Given the description of an element on the screen output the (x, y) to click on. 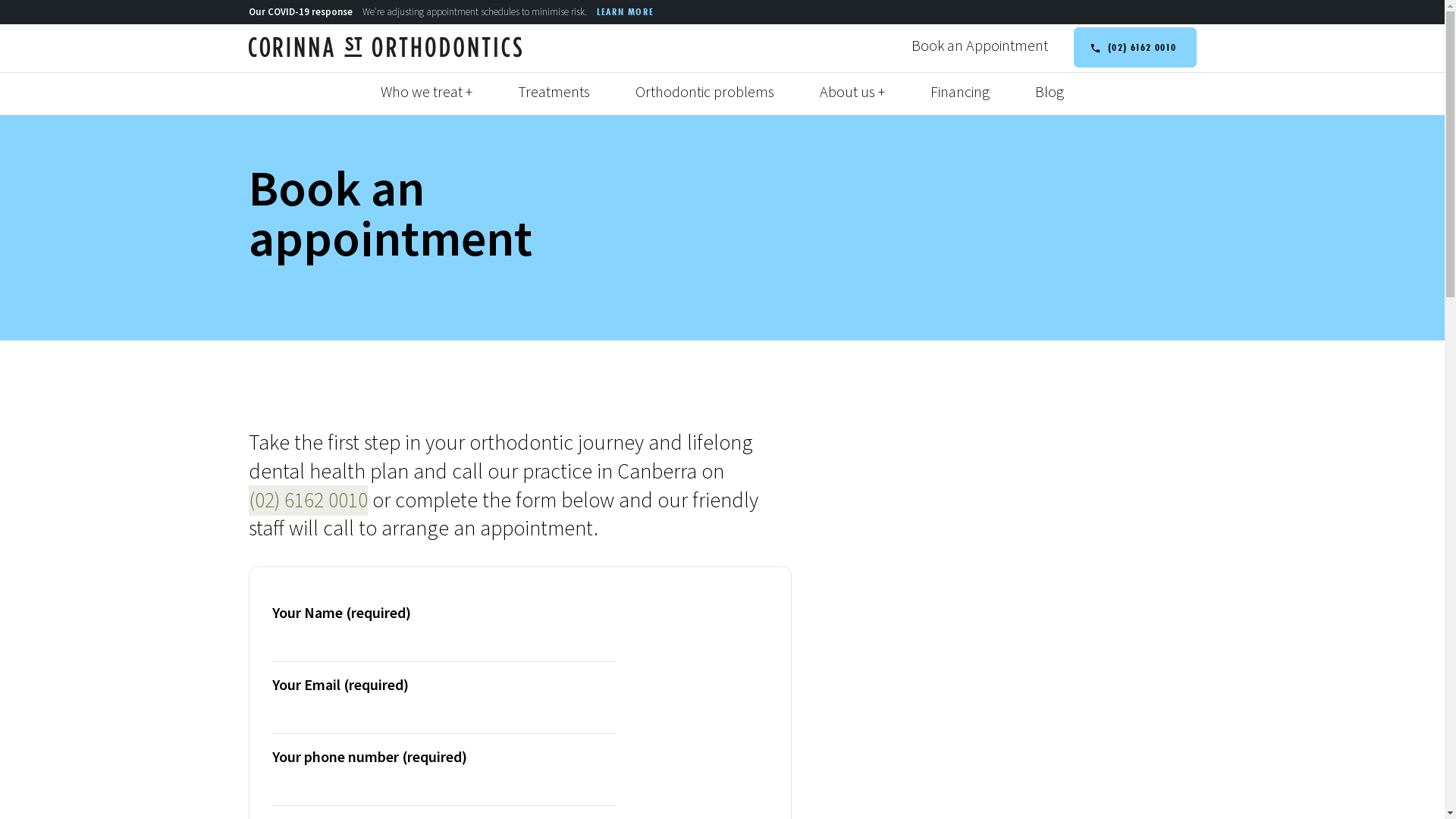
Book an Appointment Element type: text (978, 46)
Corina St Orthordontics Element type: text (390, 46)
About us Element type: text (852, 92)
(02) 6162 0010 Element type: text (1134, 47)
(02) 6162 0010 Element type: text (307, 500)
Blog Element type: text (1049, 92)
Who we treat Element type: text (426, 92)
Treatments Element type: text (553, 92)
Financing Element type: text (960, 92)
Orthodontic problems Element type: text (704, 92)
